Given the description of an element on the screen output the (x, y) to click on. 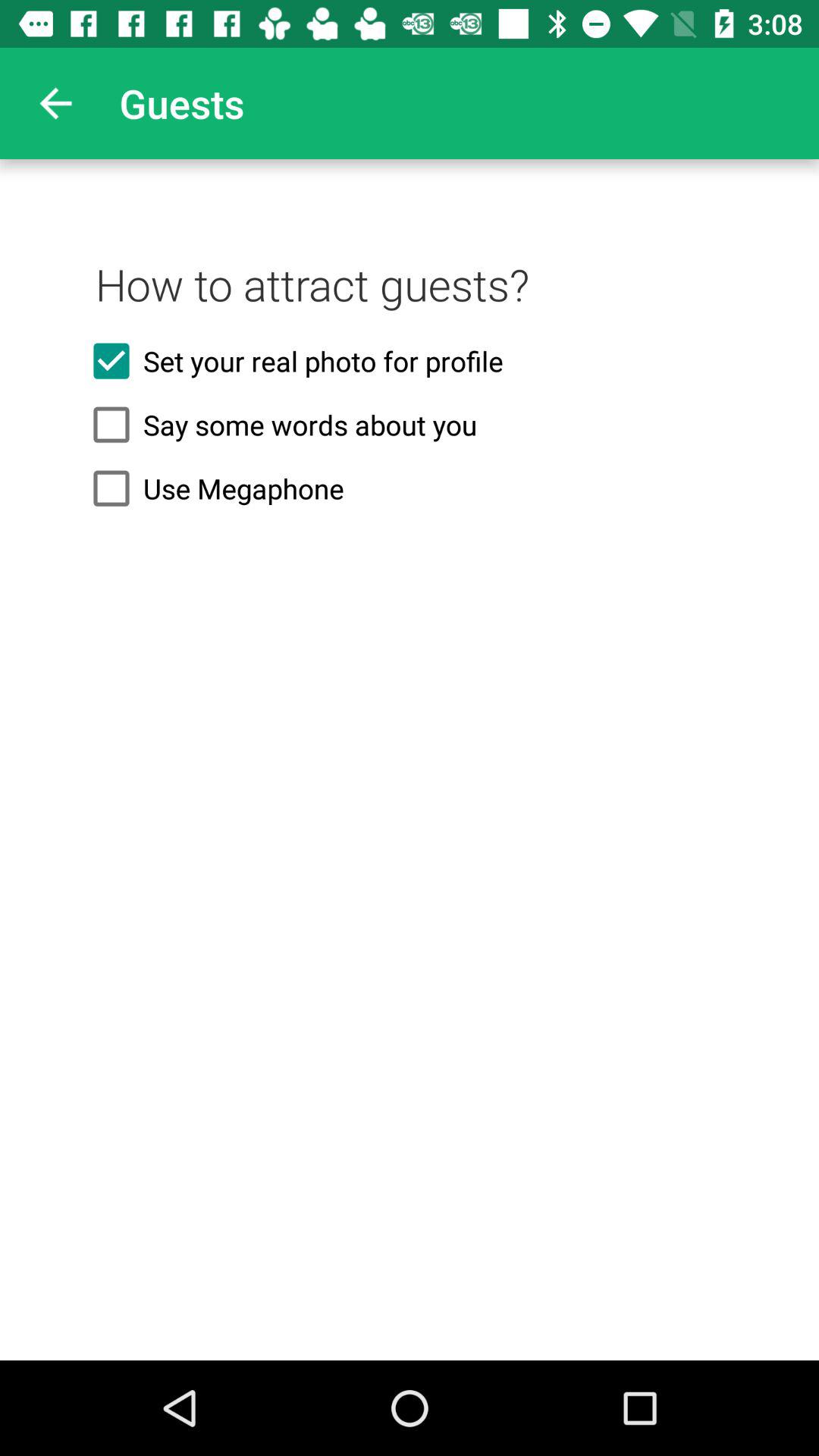
select item below how to attract item (409, 361)
